Given the description of an element on the screen output the (x, y) to click on. 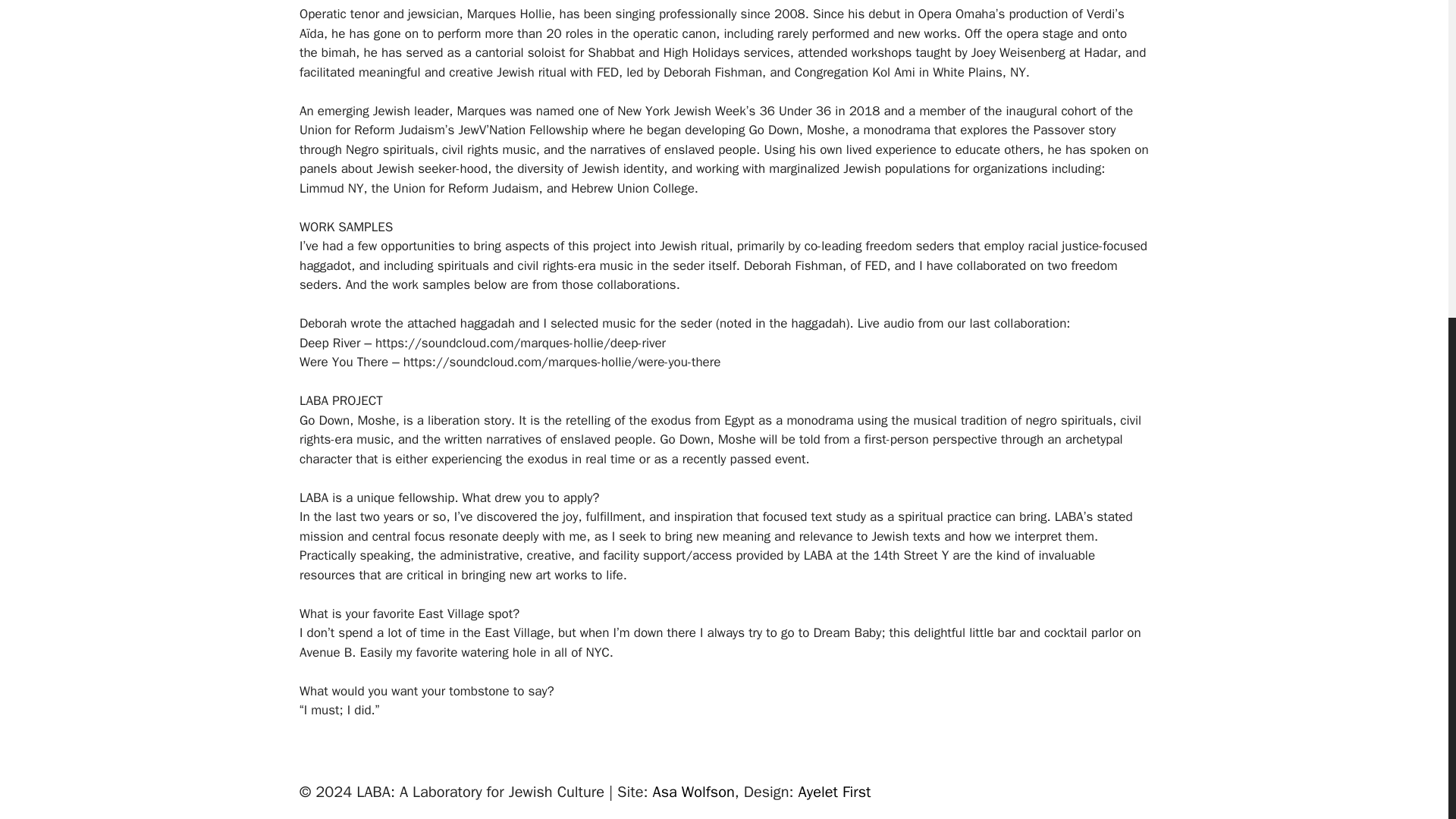
Asa Wolfson (692, 791)
Ayelet First (833, 791)
Marques Hollie (509, 13)
